Given the description of an element on the screen output the (x, y) to click on. 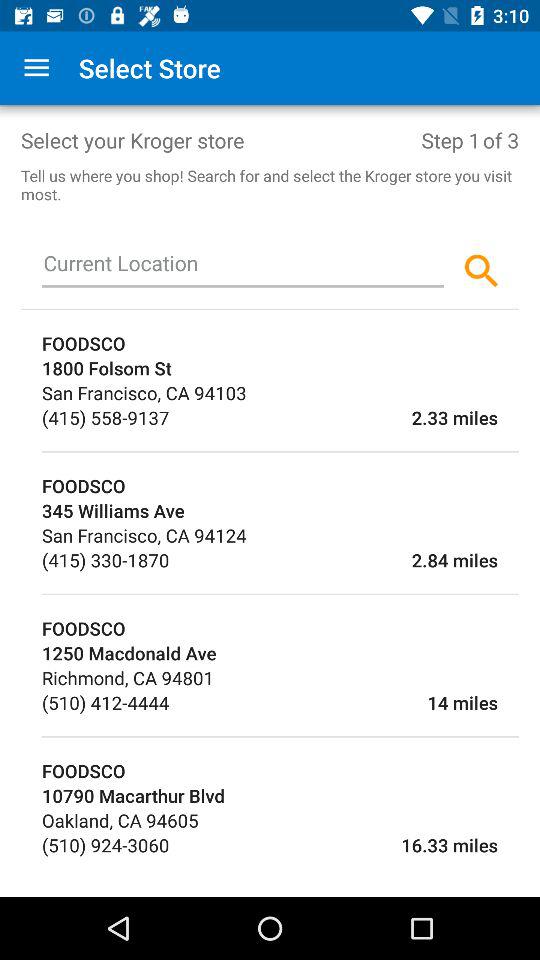
flip to 1800 folsom st (280, 367)
